Given the description of an element on the screen output the (x, y) to click on. 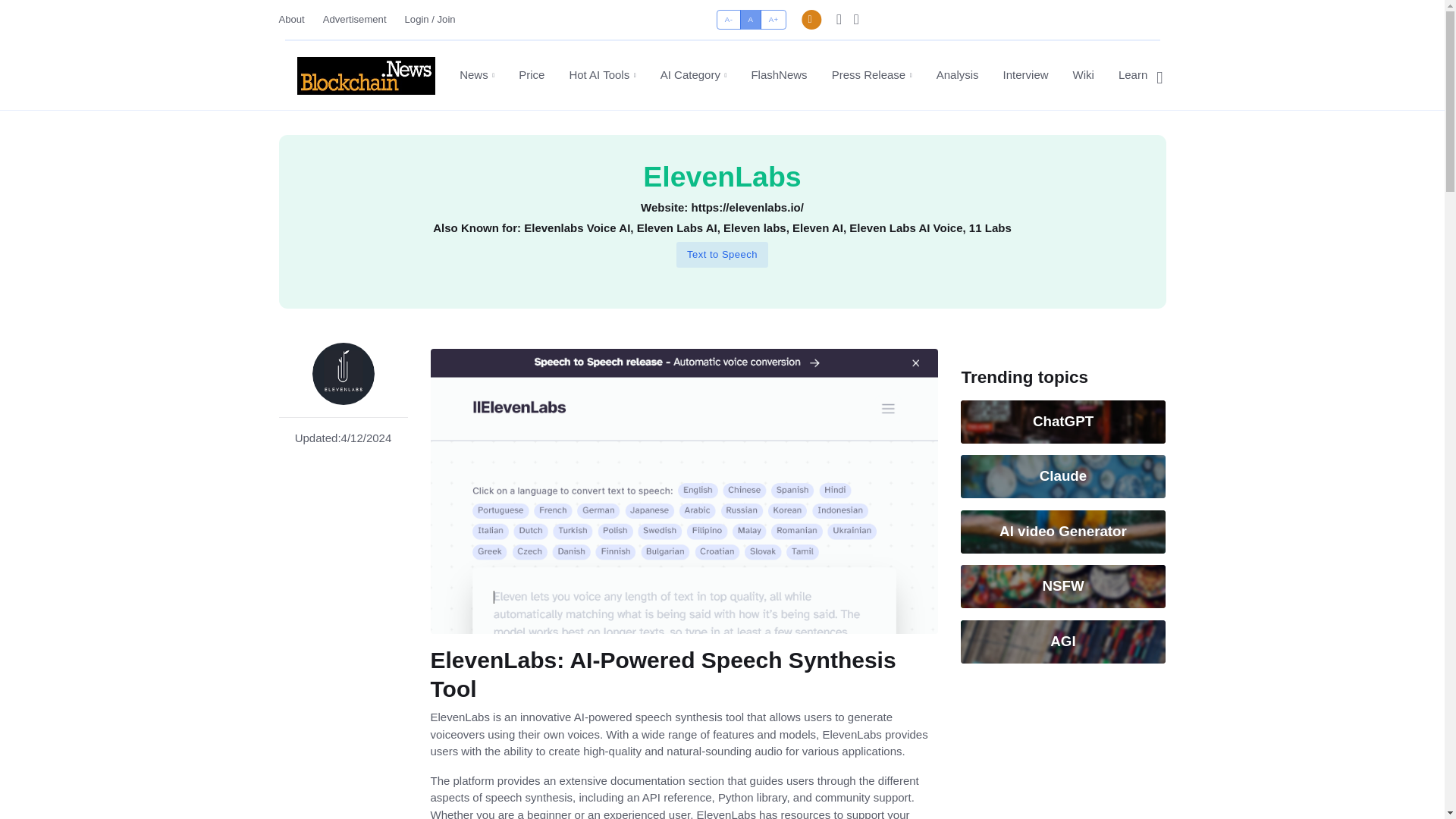
on (721, 14)
on (721, 14)
Hot AI Tools (601, 74)
on (721, 14)
Advertisement (355, 19)
About (296, 19)
